Given the description of an element on the screen output the (x, y) to click on. 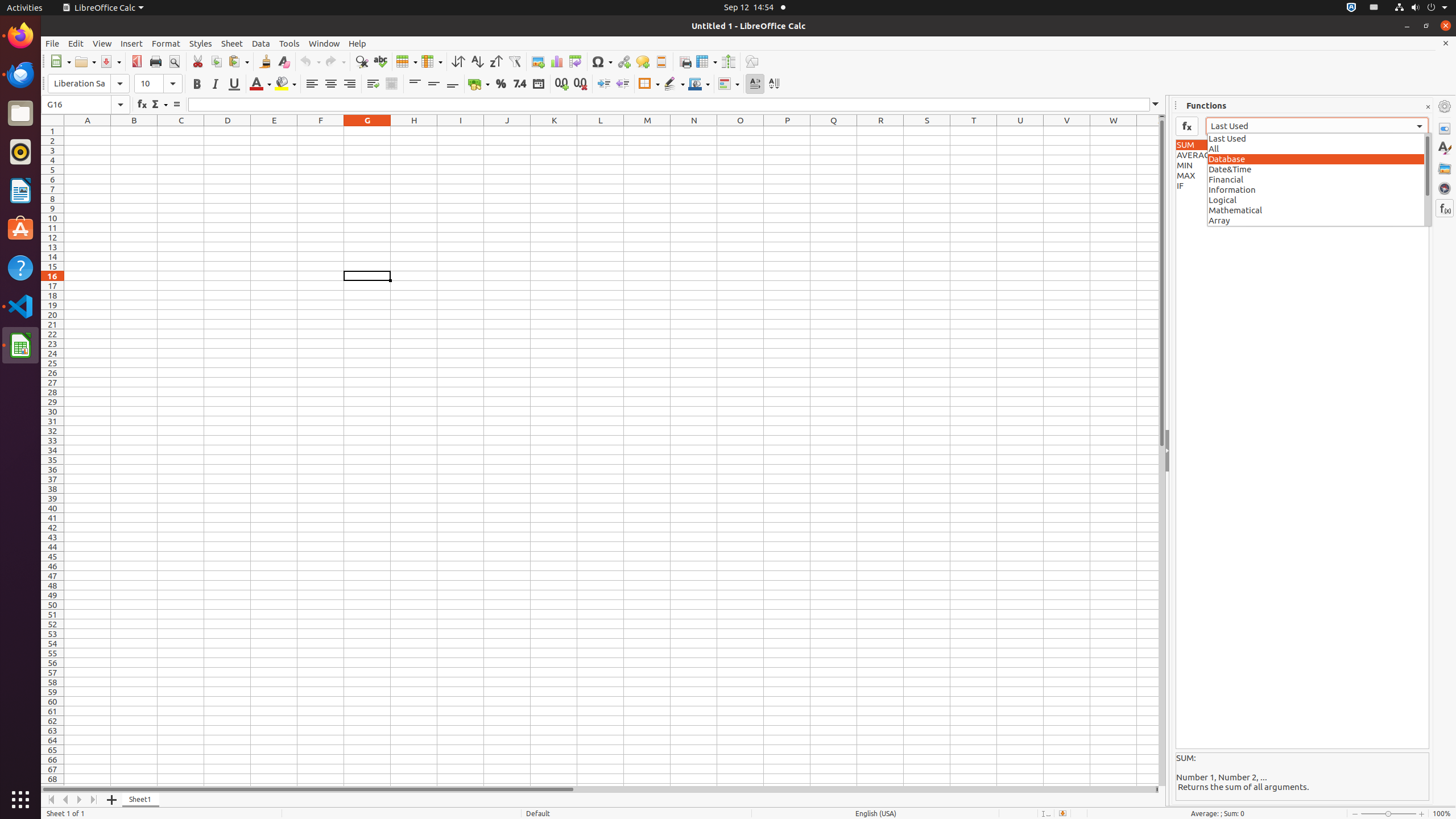
Format Element type: menu (165, 43)
Date Element type: push-button (537, 83)
Move To Home Element type: push-button (51, 799)
Border Color Element type: push-button (698, 83)
Conditional Element type: push-button (728, 83)
